Given the description of an element on the screen output the (x, y) to click on. 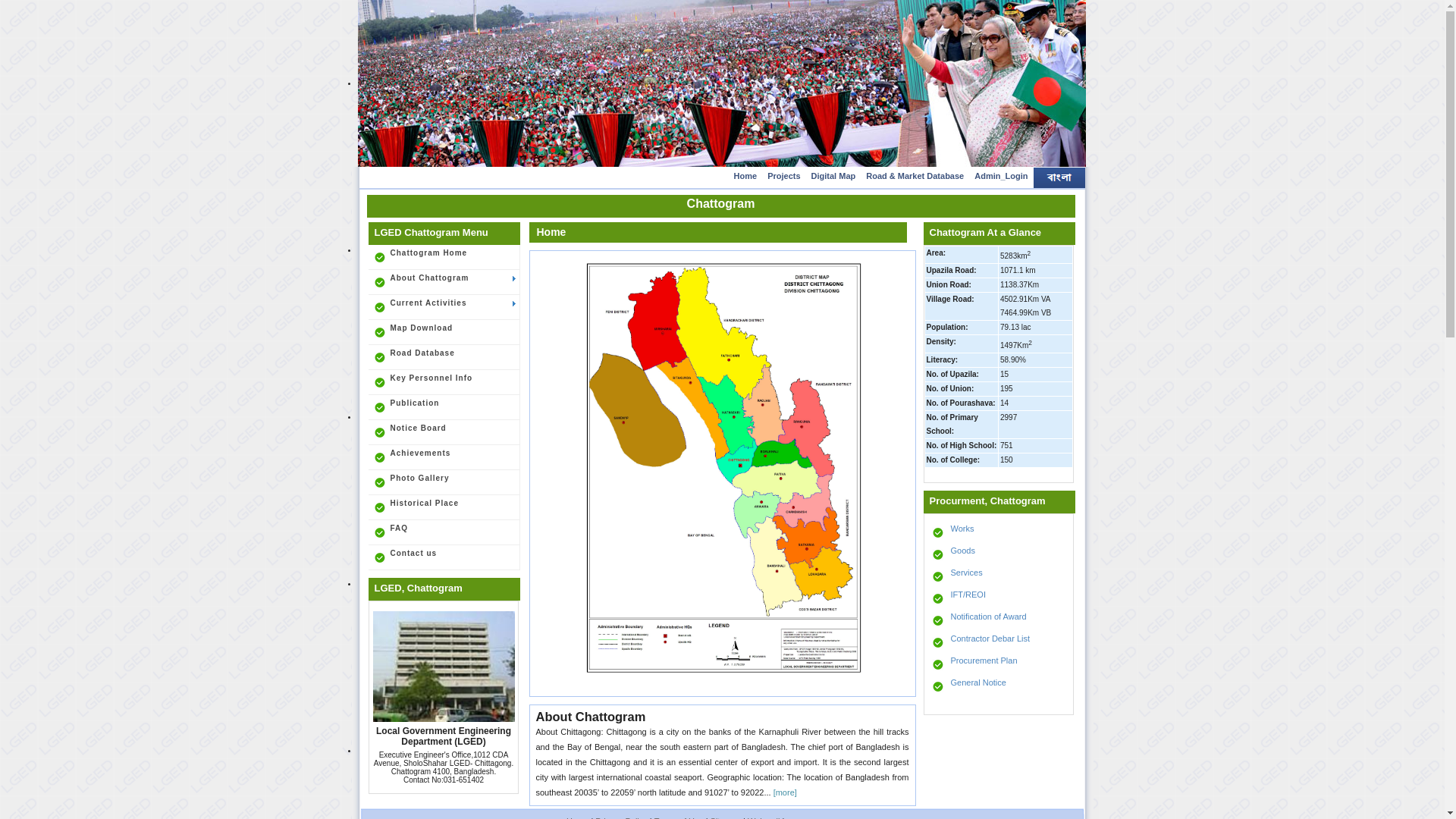
Contact us Element type: text (444, 557)
Notification of Award Element type: text (999, 620)
FAQ Element type: text (444, 532)
General Notice Element type: text (999, 686)
Notice Board Element type: text (444, 432)
Road & Market Database Element type: text (914, 176)
Chattogram Home Element type: text (444, 256)
Historical Place Element type: text (444, 507)
Key Personnel Info Element type: text (444, 382)
Works Element type: text (999, 533)
Projects Element type: text (783, 176)
Achievements Element type: text (444, 457)
IFT/REOI Element type: text (999, 598)
Map Download Element type: text (444, 332)
Contractor Debar List Element type: text (999, 642)
Photo Gallery Element type: text (444, 482)
About Chattogram Element type: text (444, 281)
Admin_Login Element type: text (1000, 176)
Procurement Plan Element type: text (999, 664)
Goods Element type: text (999, 555)
Digital Map Element type: text (833, 176)
Services Element type: text (999, 576)
Road Database Element type: text (444, 357)
Publication Element type: text (444, 407)
Home Element type: text (745, 176)
[more] Element type: text (784, 792)
Current Activities Element type: text (444, 307)
